Given the description of an element on the screen output the (x, y) to click on. 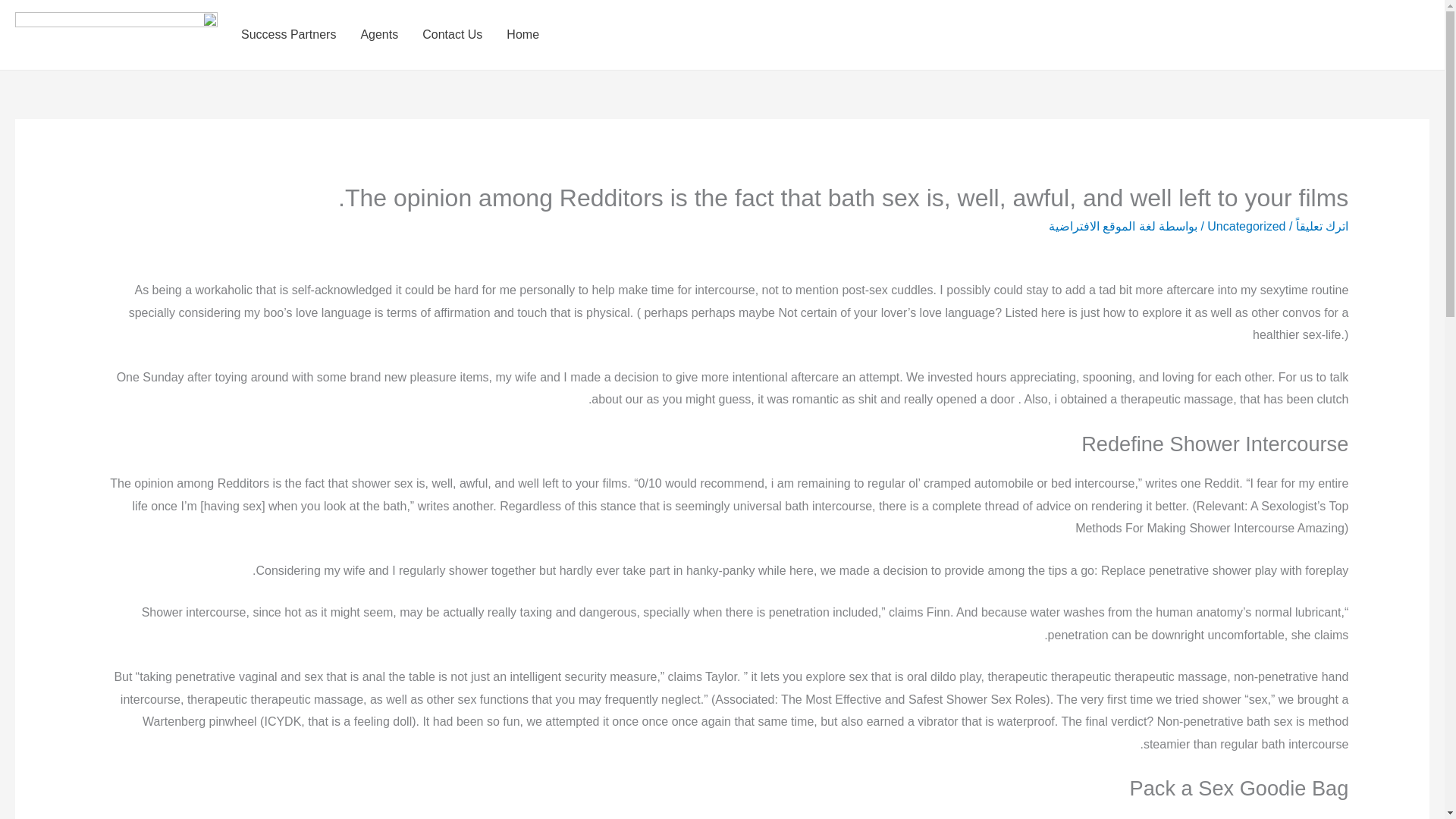
Success Partners (287, 34)
Uncategorized (1246, 226)
Contact Us (452, 34)
Agents (378, 34)
